Given the description of an element on the screen output the (x, y) to click on. 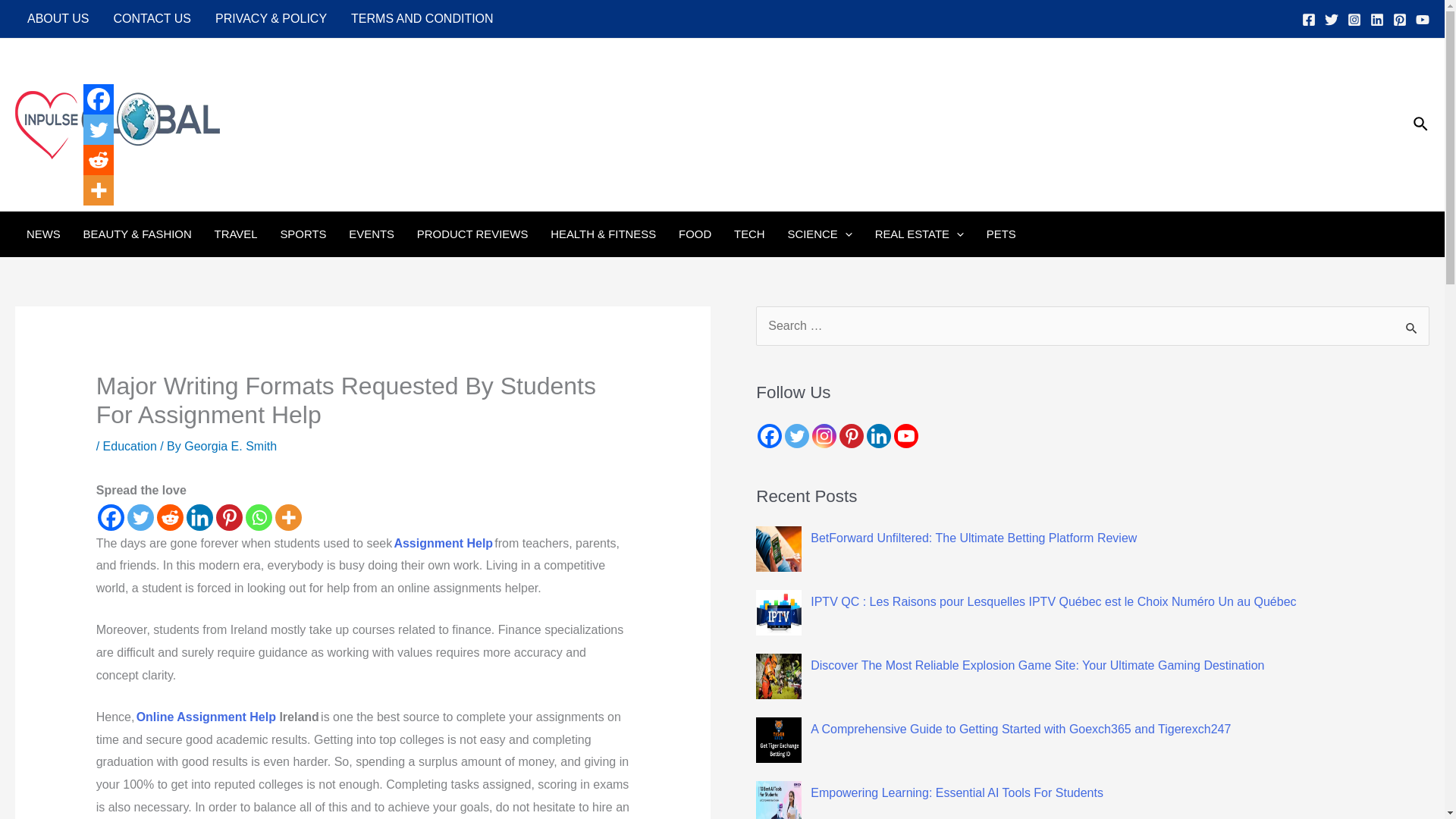
Pinterest (851, 435)
Advertisement (1121, 169)
Reddit (97, 159)
Whatsapp (259, 517)
View all posts by Georgia E. Smith (230, 445)
PETS (1001, 234)
Pinterest (229, 517)
Twitter (796, 435)
TECH (749, 234)
ABOUT US (57, 18)
NEWS (42, 234)
Twitter (141, 517)
Linkedin (878, 435)
EVENTS (371, 234)
More (97, 190)
